Given the description of an element on the screen output the (x, y) to click on. 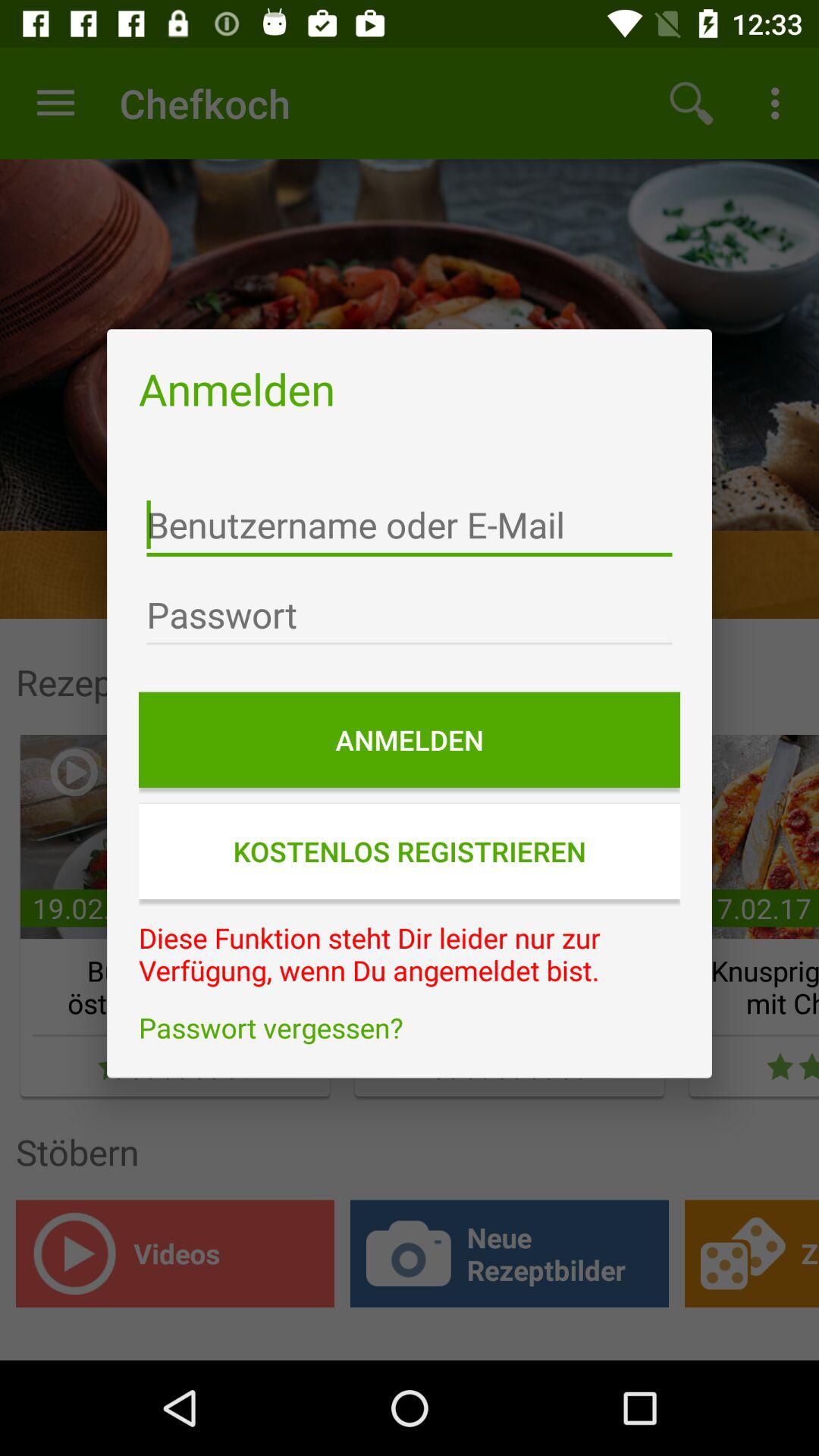
enter email field (409, 525)
